Given the description of an element on the screen output the (x, y) to click on. 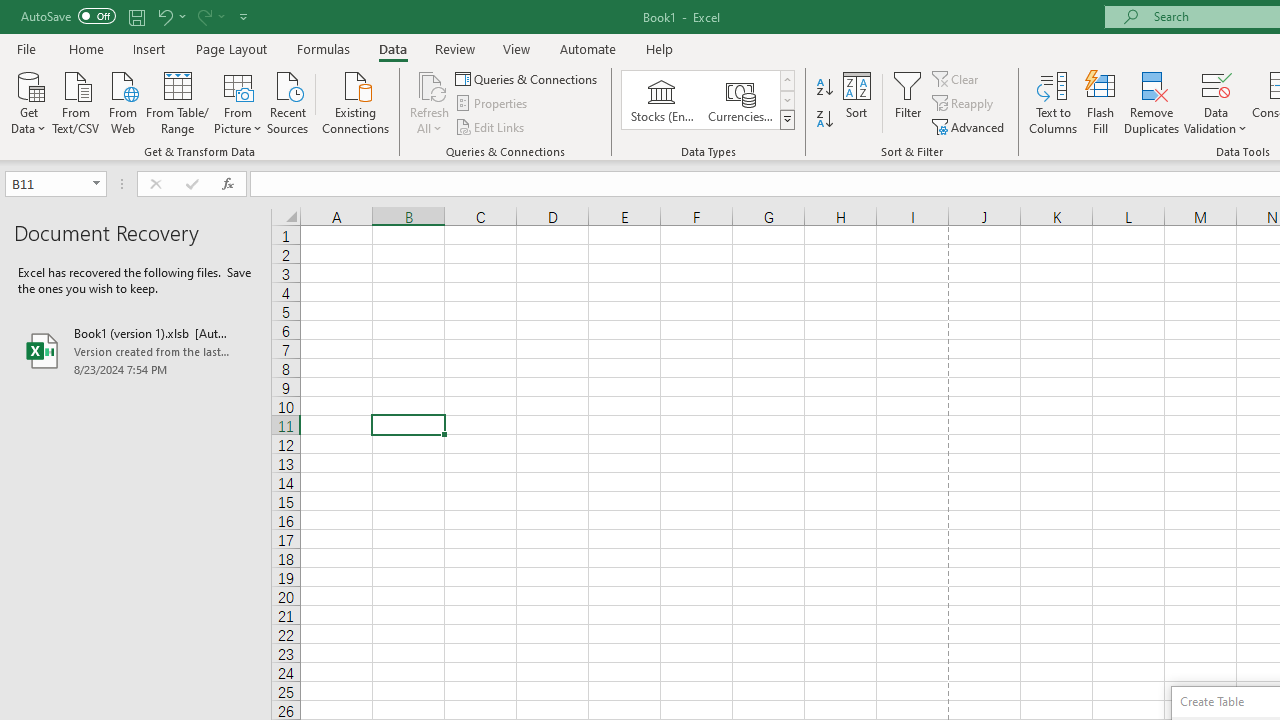
From Table/Range (177, 101)
From Text/CSV (75, 101)
Flash Fill (1101, 102)
From Picture (238, 101)
Sort... (856, 102)
Edit Links (491, 126)
